Given the description of an element on the screen output the (x, y) to click on. 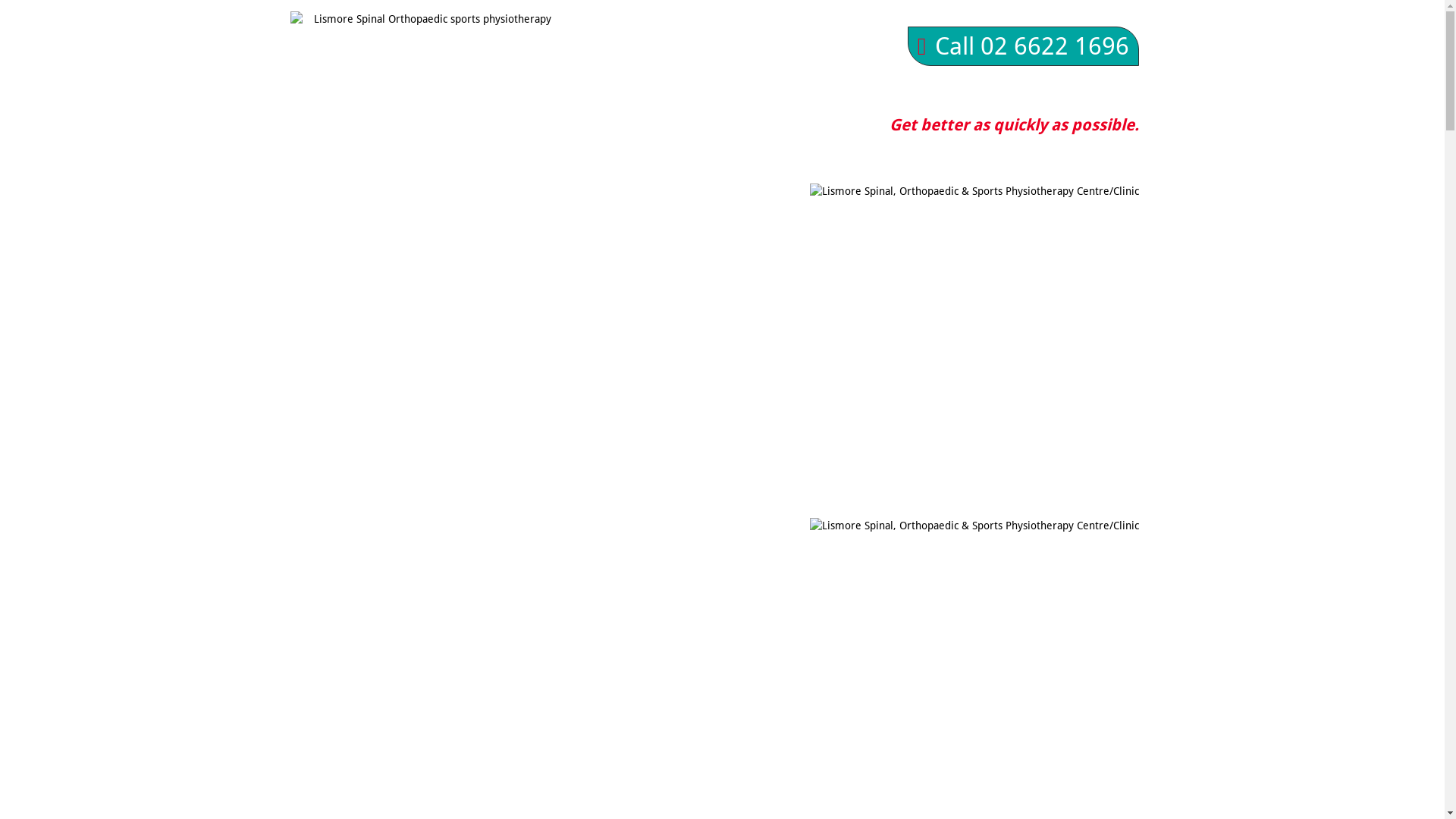
Lismore Spinal Orthopaedic sports physiotherapy Element type: hover (425, 112)
